Given the description of an element on the screen output the (x, y) to click on. 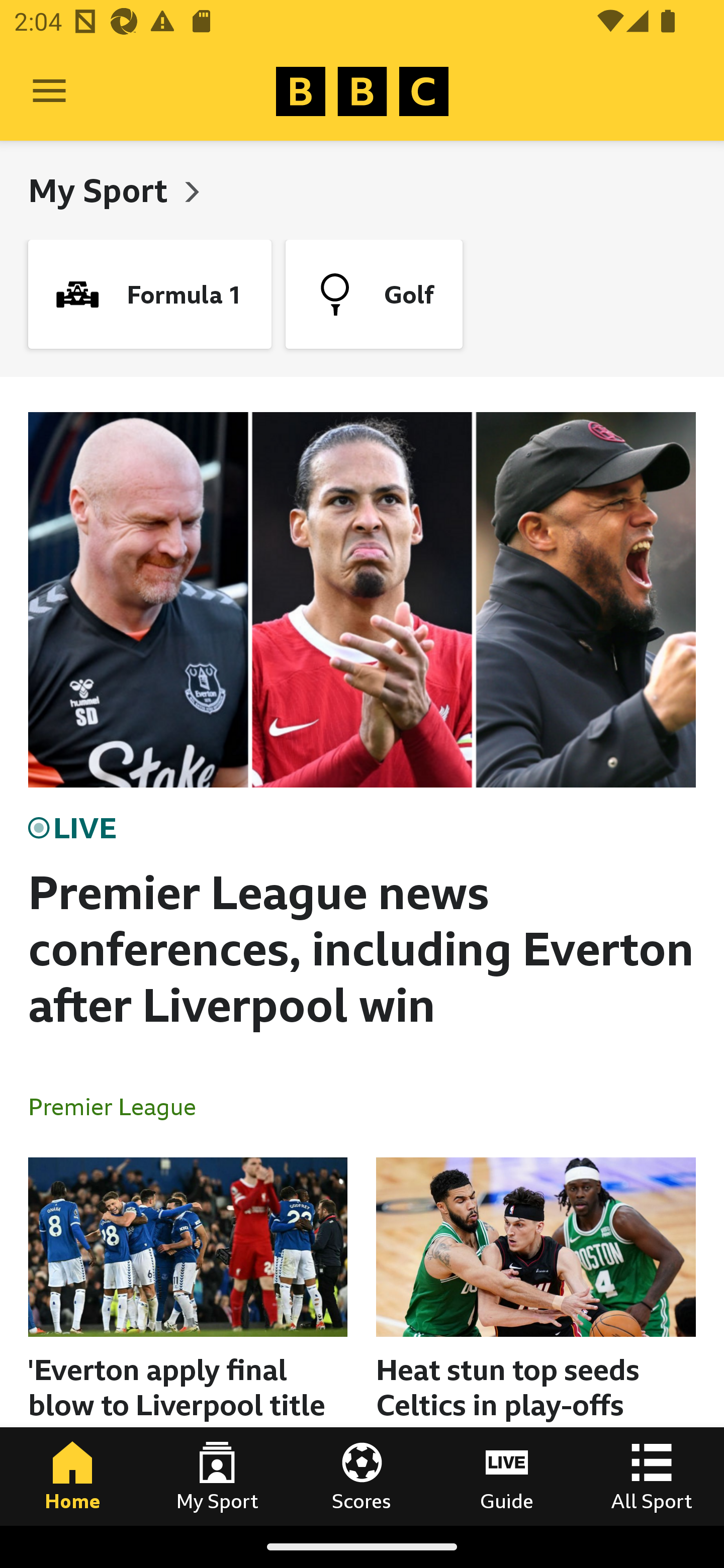
Open Menu (49, 91)
My Sport (101, 190)
Premier League In the section Premier League (119, 1106)
My Sport (216, 1475)
Scores (361, 1475)
Guide (506, 1475)
All Sport (651, 1475)
